Given the description of an element on the screen output the (x, y) to click on. 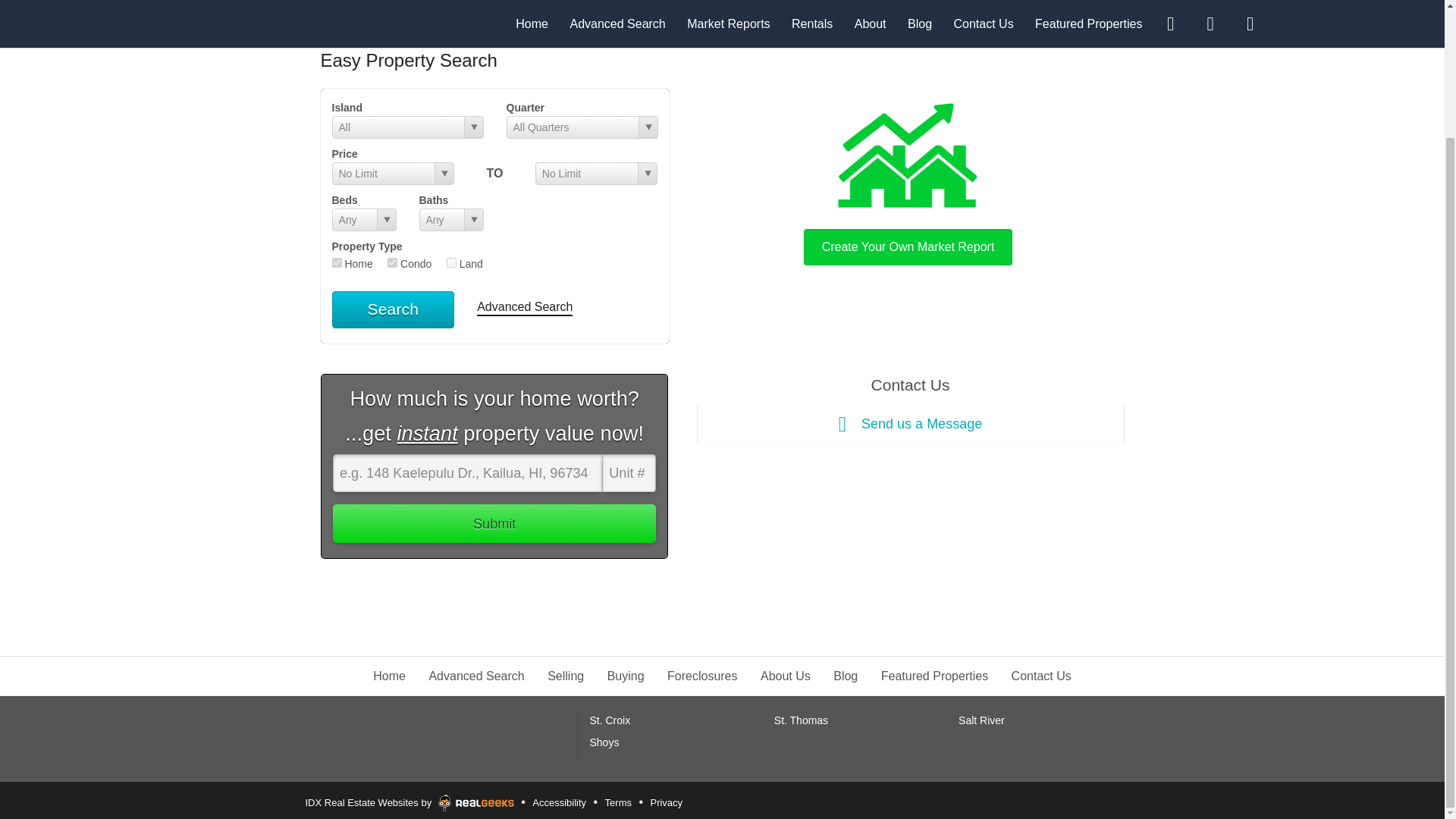
St. Thomas (801, 720)
Home (389, 675)
About Us (785, 675)
Terms (617, 802)
Contact Us (1041, 675)
Privacy (665, 802)
con (392, 262)
Blog (844, 675)
Featured Properties (934, 675)
res (336, 262)
Advanced Search (524, 308)
Foreclosures (701, 675)
IDX Real Estate Websites by (409, 799)
Advanced Search (476, 675)
Search (392, 309)
